Given the description of an element on the screen output the (x, y) to click on. 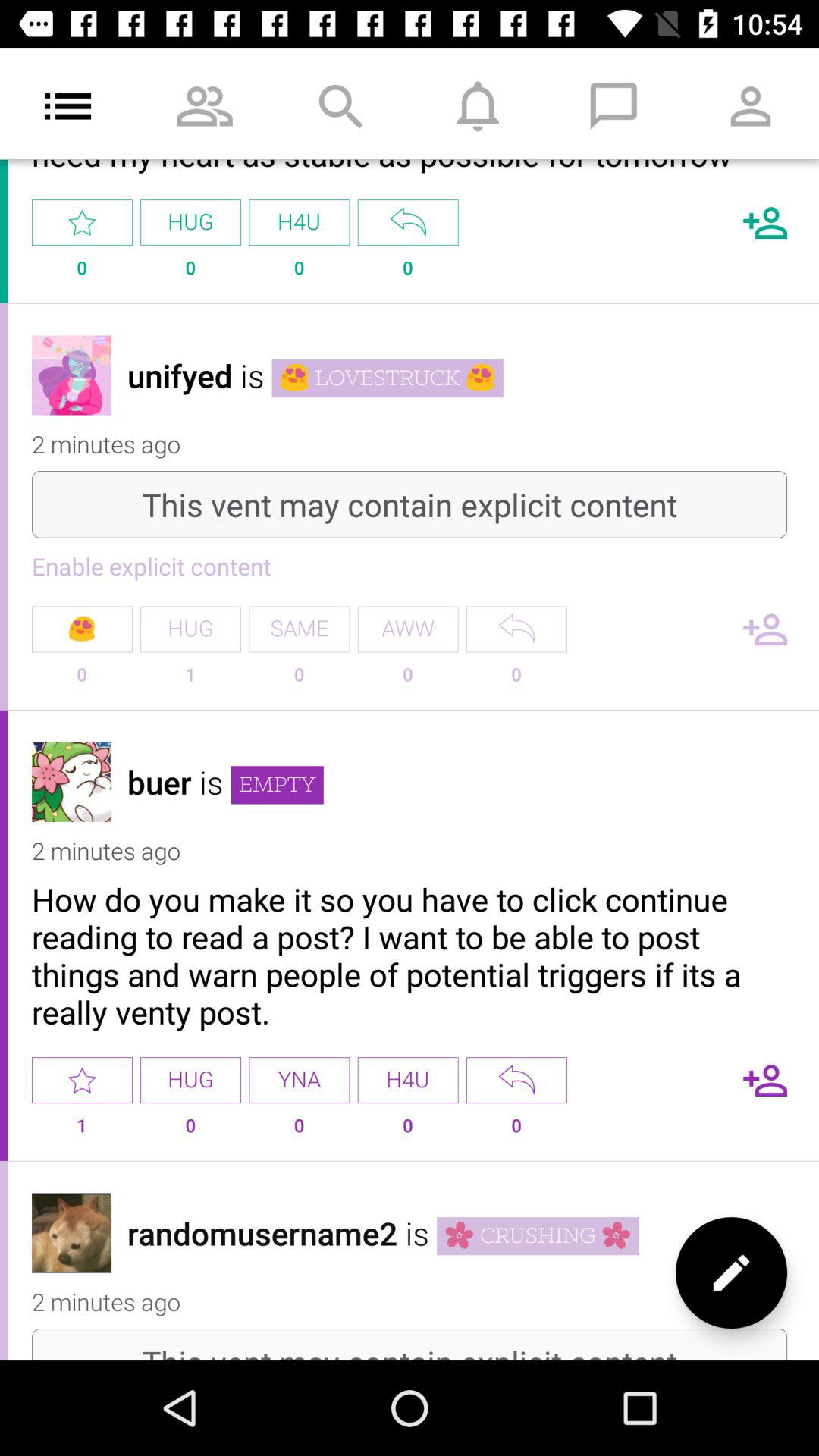
select icon to the left of aww app (299, 629)
